Given the description of an element on the screen output the (x, y) to click on. 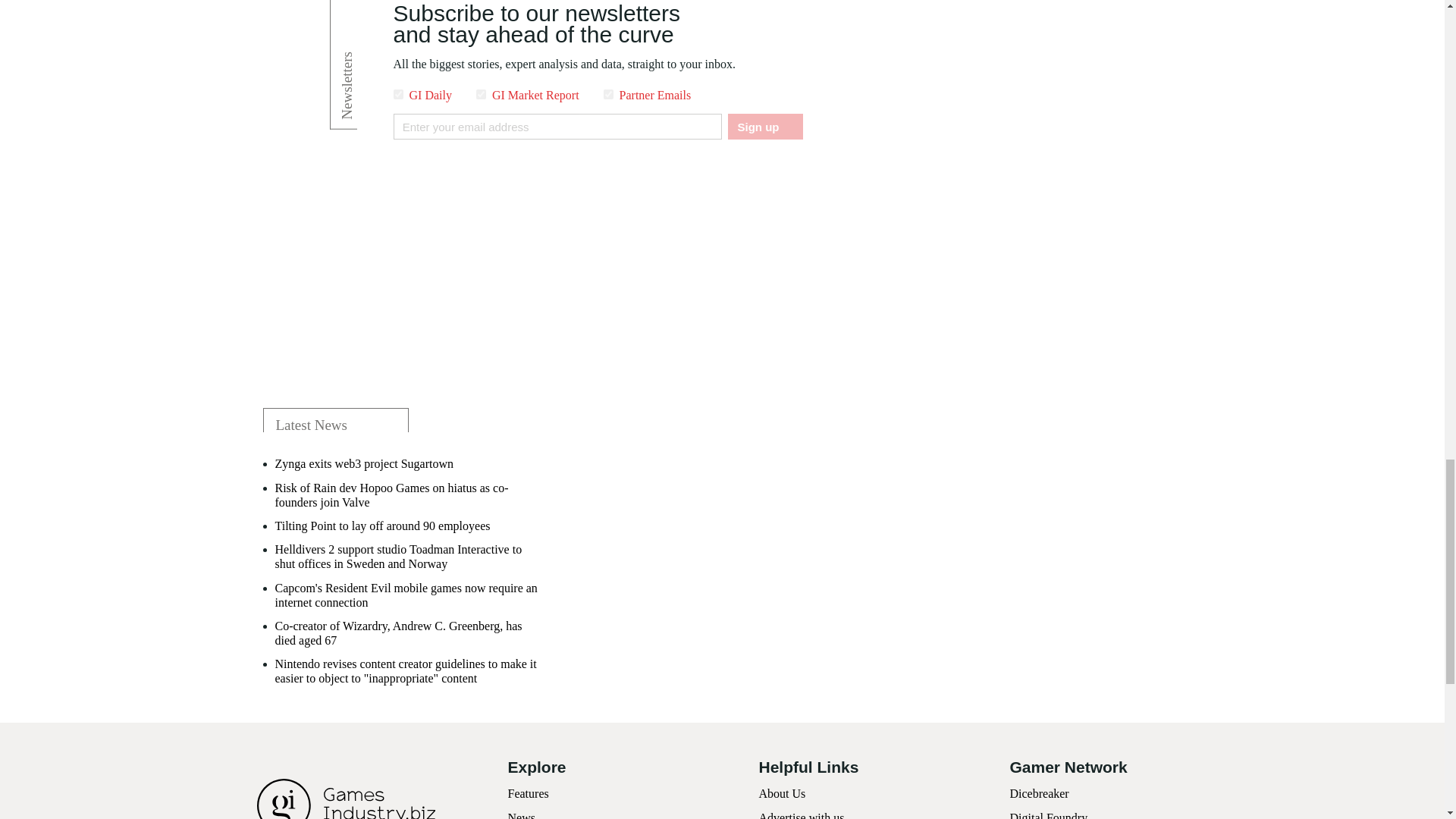
Features (528, 793)
News (521, 815)
on (608, 94)
on (481, 94)
on (398, 94)
Zynga exits web3 project Sugartown (363, 463)
